Given the description of an element on the screen output the (x, y) to click on. 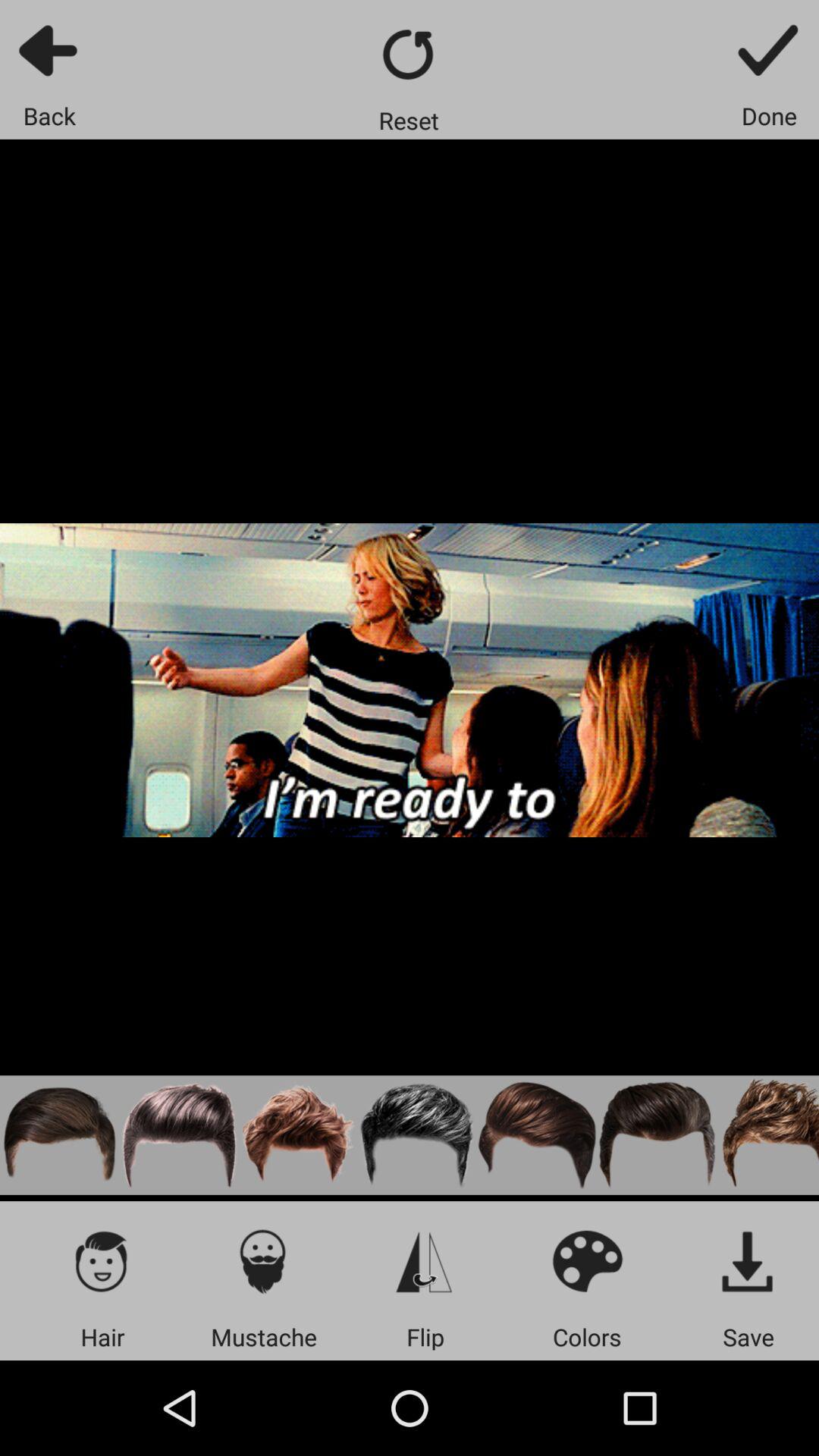
turn off app above hair icon (102, 1260)
